Given the description of an element on the screen output the (x, y) to click on. 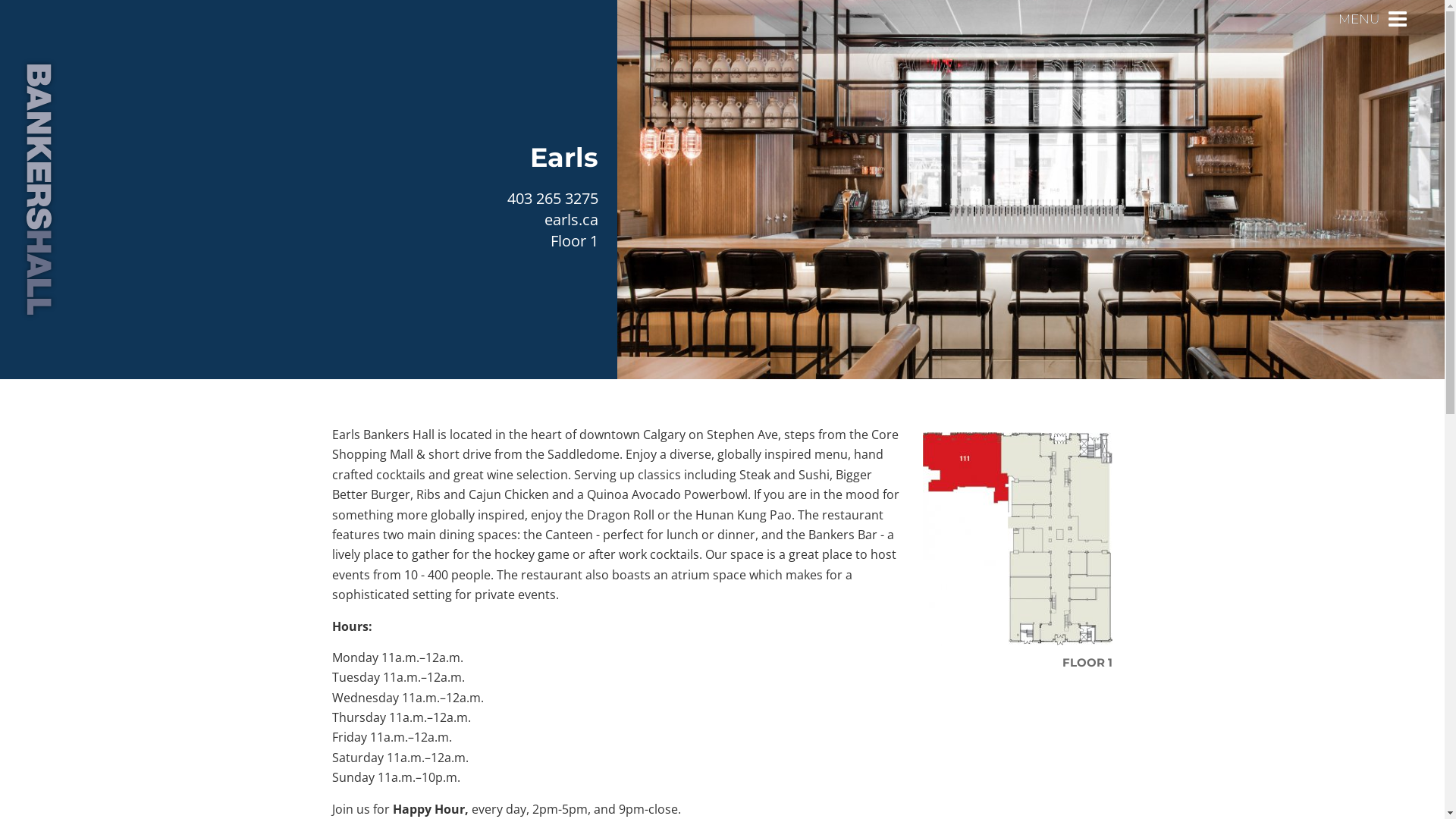
Bankers Hall Element type: text (38, 189)
earls.ca Element type: text (571, 219)
403 265 3275 Element type: text (552, 198)
Floor 1 Element type: text (574, 240)
